Given the description of an element on the screen output the (x, y) to click on. 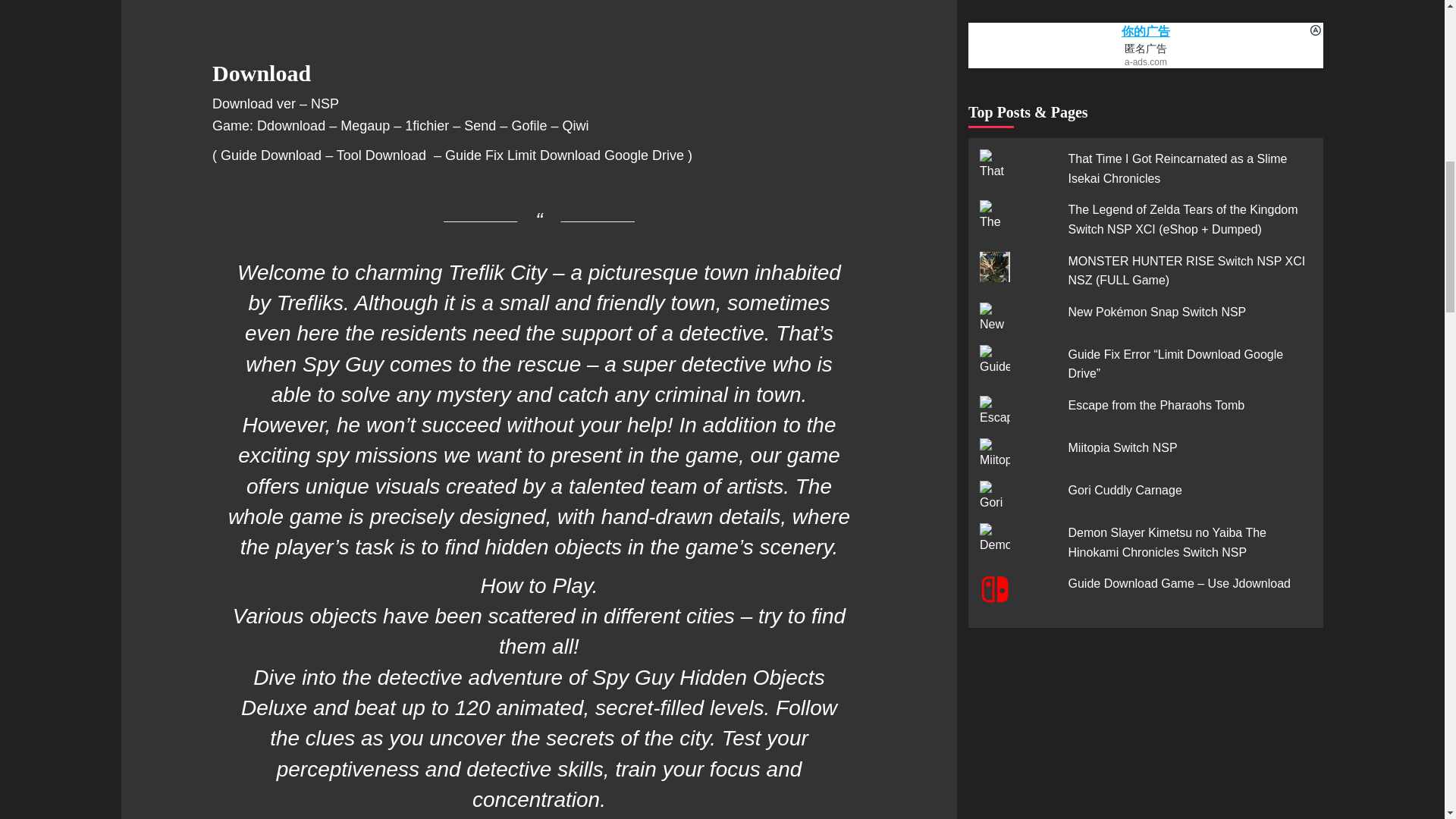
1fichier (426, 125)
Tool Download  (382, 155)
Guide Fix Limit Download Google Drive  (566, 155)
Send (480, 125)
Gofile (529, 125)
Ddownload (290, 125)
Megaup (365, 125)
Guide Download (271, 155)
Qiwi (575, 125)
